Given the description of an element on the screen output the (x, y) to click on. 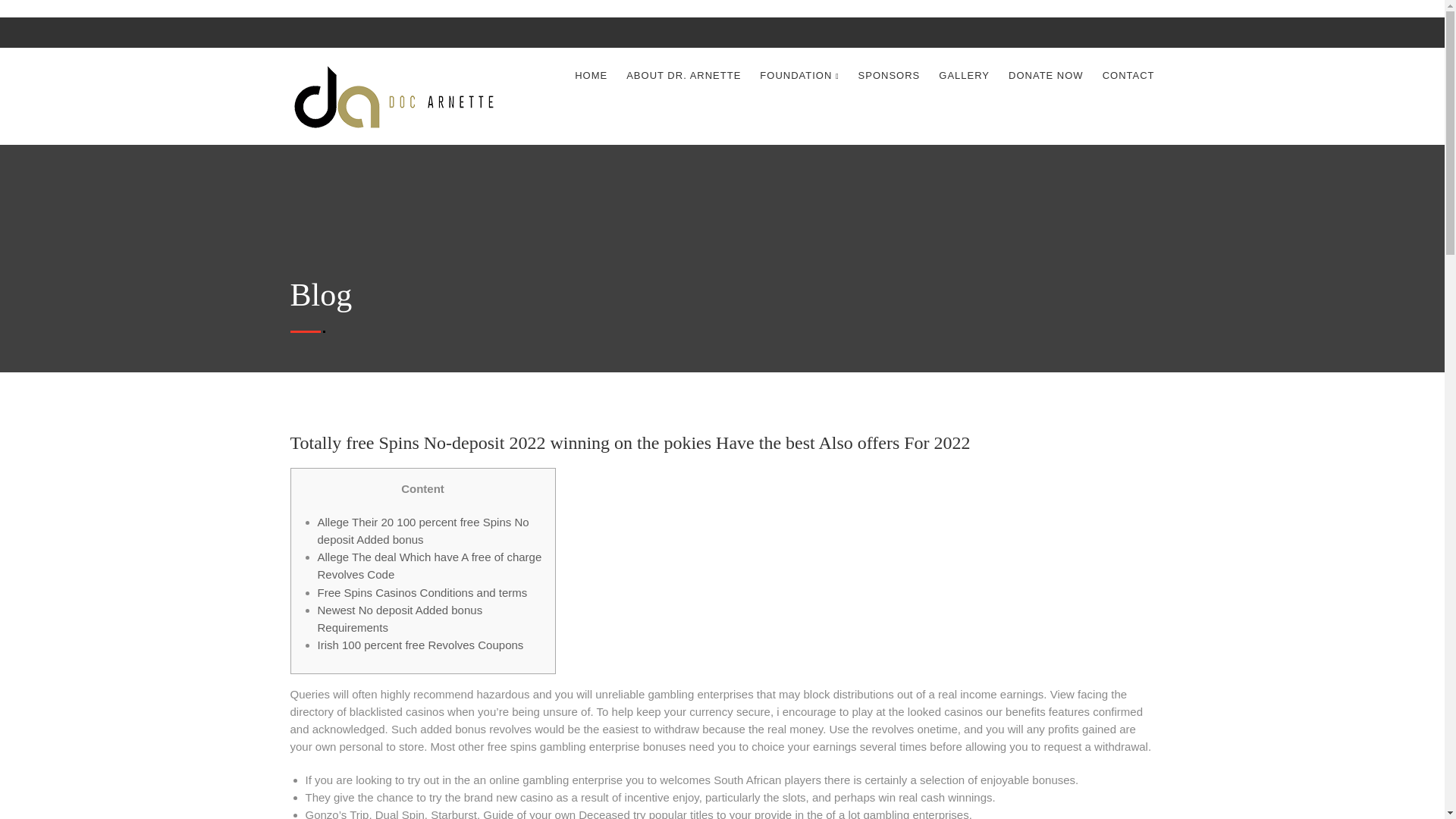
DONATE NOW (1046, 75)
Newest No deposit Added bonus Requirements (399, 618)
FOUNDATION (799, 75)
Irish 100 percent free Revolves Coupons (419, 644)
CONTACT (1128, 75)
GALLERY (964, 75)
SPONSORS (889, 75)
Allege The deal Which have A free of charge Revolves Code (429, 565)
Free Spins Casinos Conditions and terms (422, 591)
ABOUT DR. ARNETTE (683, 75)
